Given the description of an element on the screen output the (x, y) to click on. 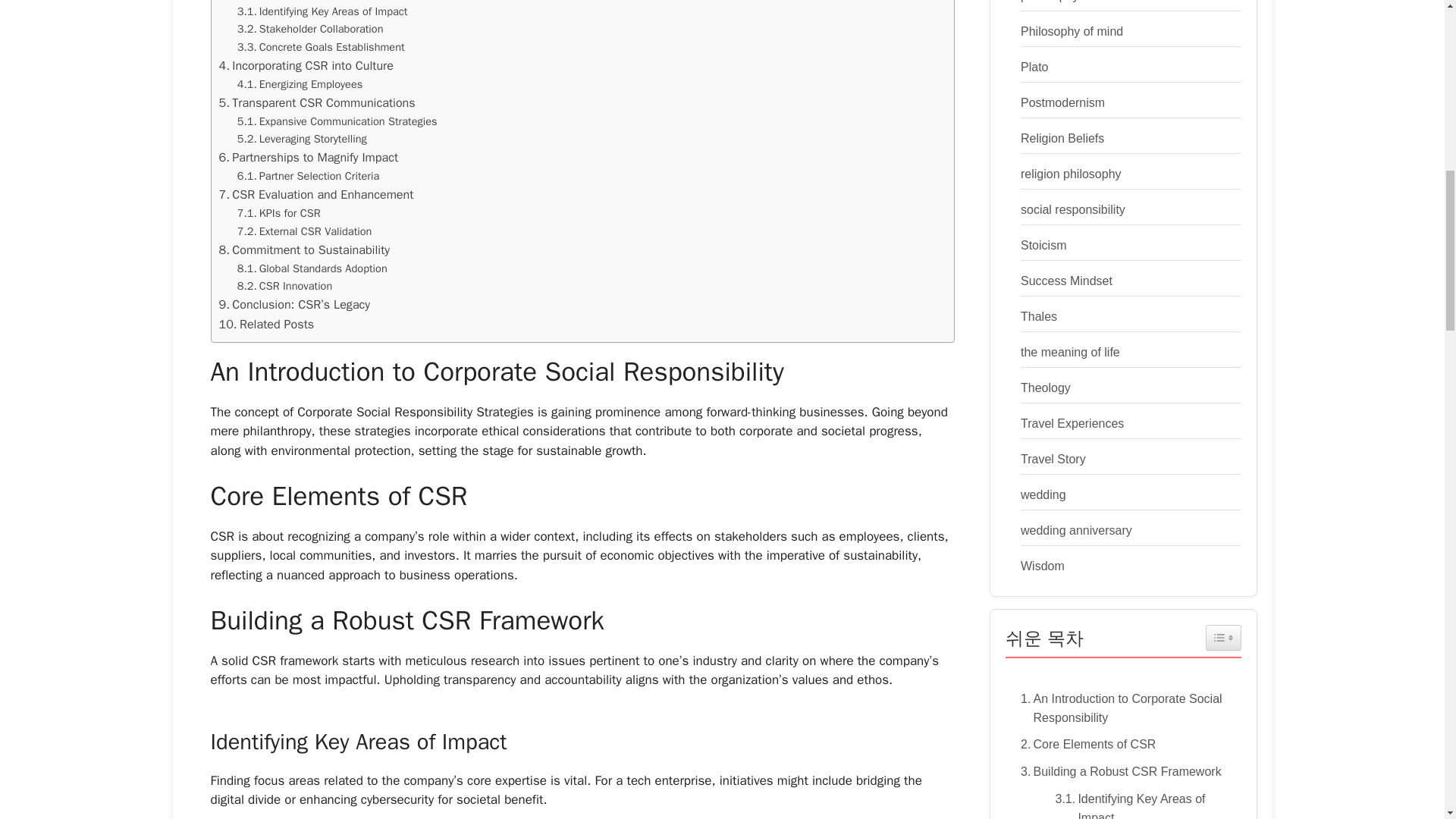
Building a Robust CSR Framework (315, 1)
Related Posts (266, 324)
Leveraging Storytelling (301, 139)
Partnerships to Magnify Impact (307, 157)
Stakeholder Collaboration (310, 28)
Identifying Key Areas of Impact (322, 11)
Partner Selection Criteria (308, 176)
Transparent CSR Communications (316, 103)
Expansive Communication Strategies (337, 121)
Building a Robust CSR Framework (315, 1)
External CSR Validation (304, 231)
Partner Selection Criteria (308, 176)
CSR Innovation (285, 285)
Global Standards Adoption (312, 268)
Incorporating CSR into Culture (305, 66)
